Given the description of an element on the screen output the (x, y) to click on. 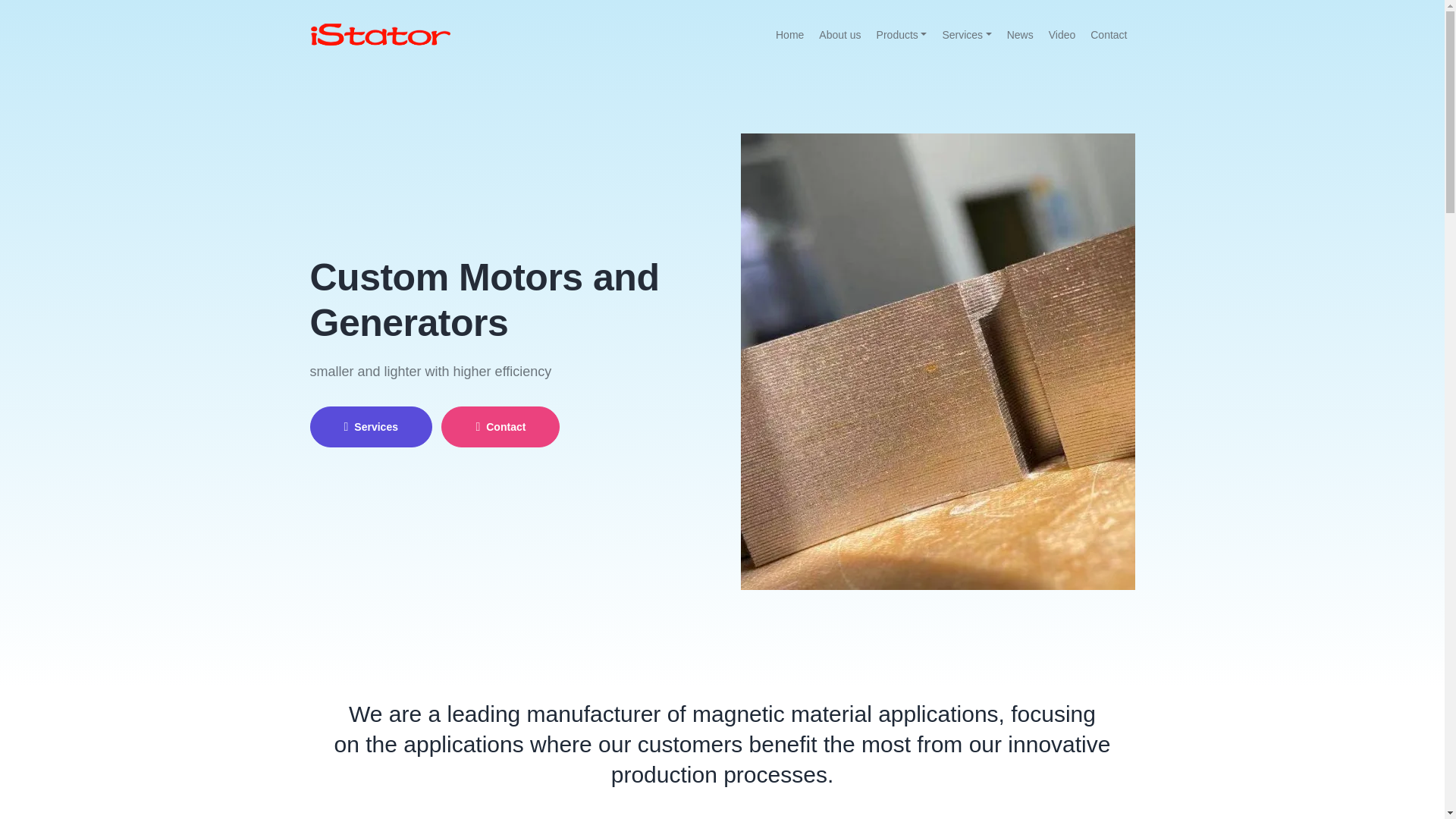
Contact Element type: text (1108, 34)
Services Element type: text (370, 426)
Contact Element type: text (500, 426)
Home
(current) Element type: text (789, 34)
backlack Bonding varnish insulation manufacturer Element type: hover (937, 361)
Video Element type: text (1062, 34)
Services Element type: text (966, 34)
About us Element type: text (839, 34)
Products Element type: text (902, 34)
News Element type: text (1020, 34)
